Given the description of an element on the screen output the (x, y) to click on. 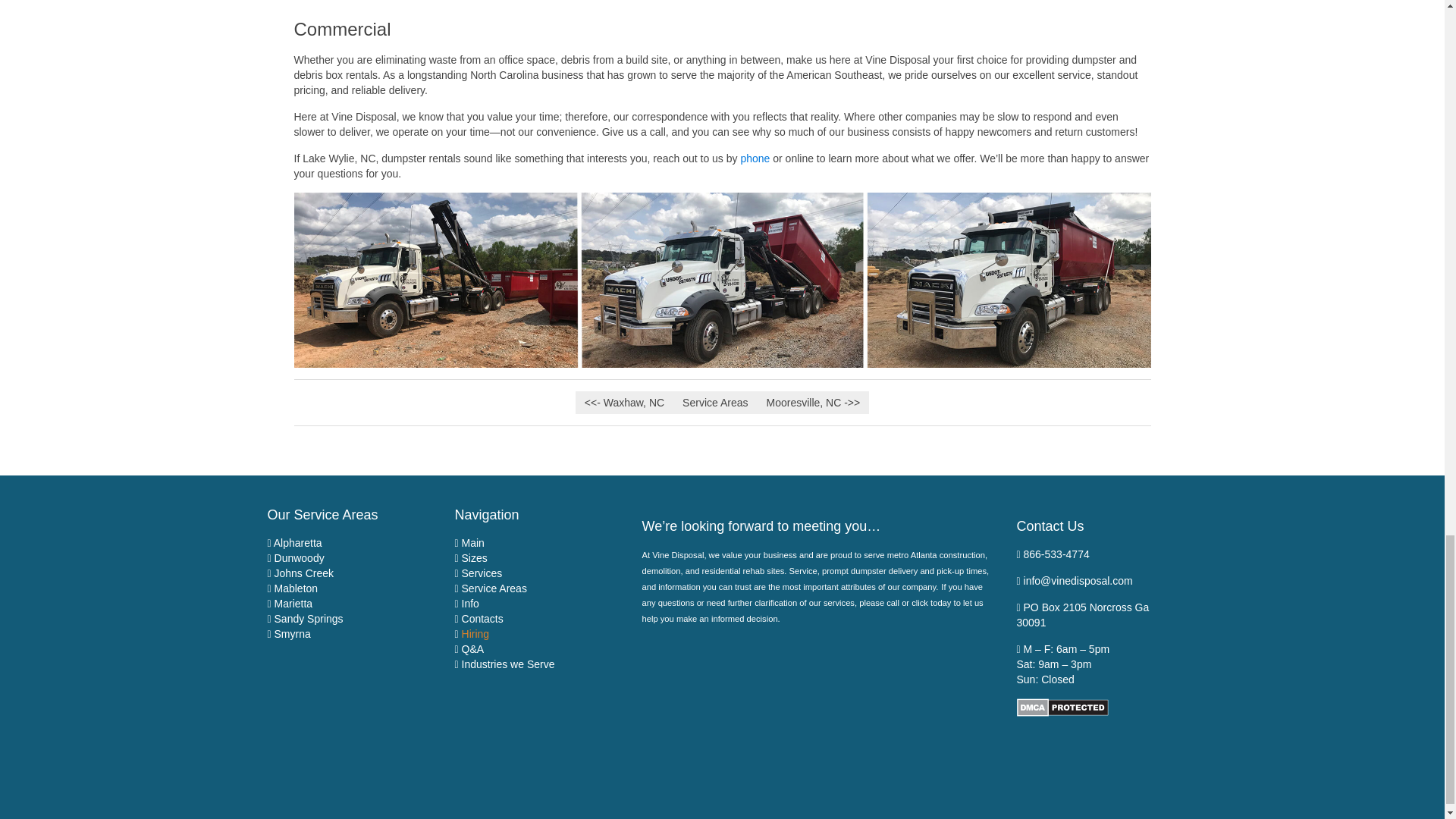
DMCA.com Protection Status (1062, 706)
